Given the description of an element on the screen output the (x, y) to click on. 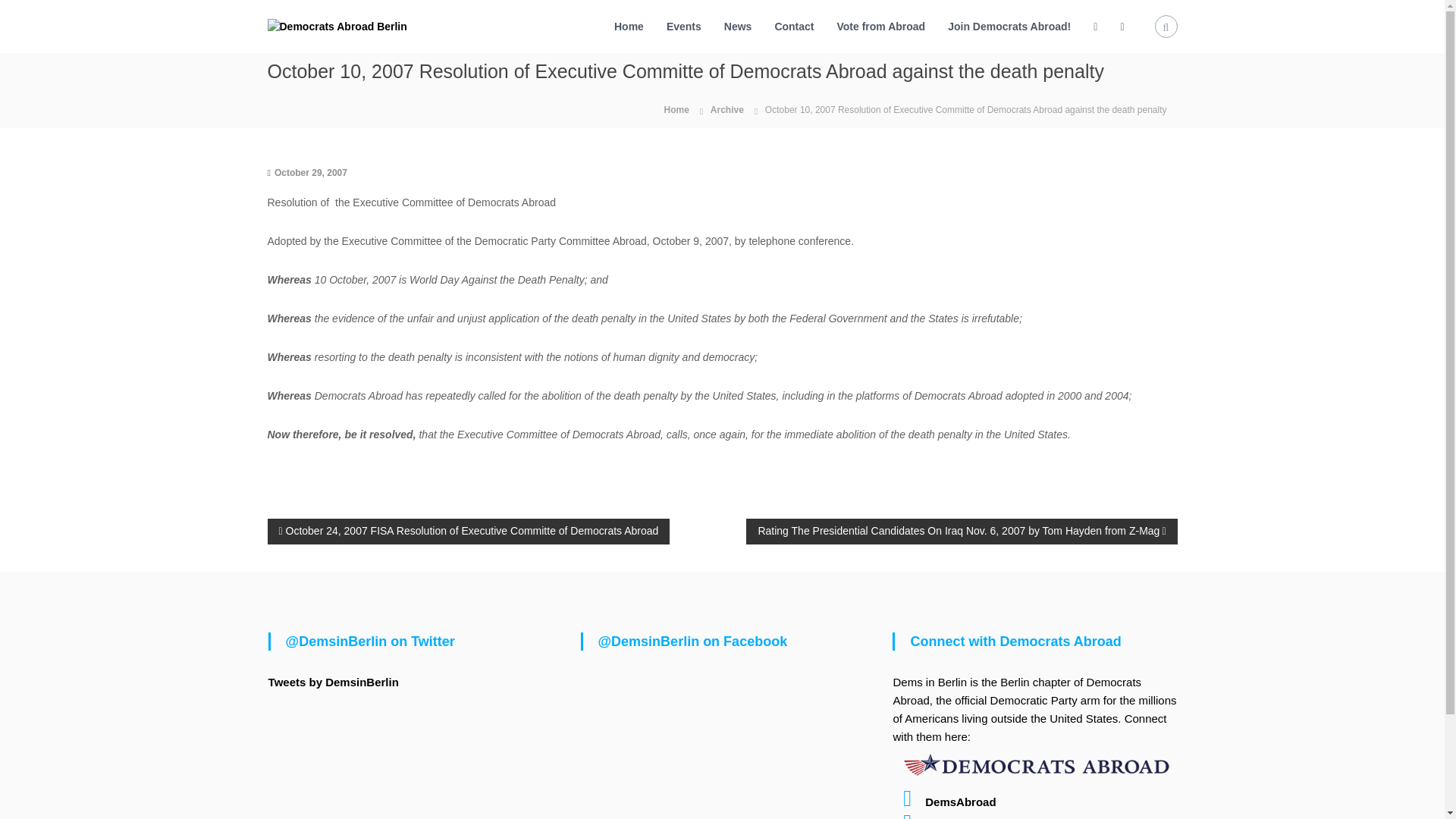
Tweets by DemsinBerlin (332, 680)
DemsAbroad (943, 801)
Home (675, 109)
Events (683, 25)
Contact (793, 25)
Vote from Abroad (881, 25)
October 29, 2007 (311, 172)
Archive (727, 109)
News (737, 25)
Home (675, 109)
Home (628, 25)
Join Democrats Abroad! (1008, 25)
